Given the description of an element on the screen output the (x, y) to click on. 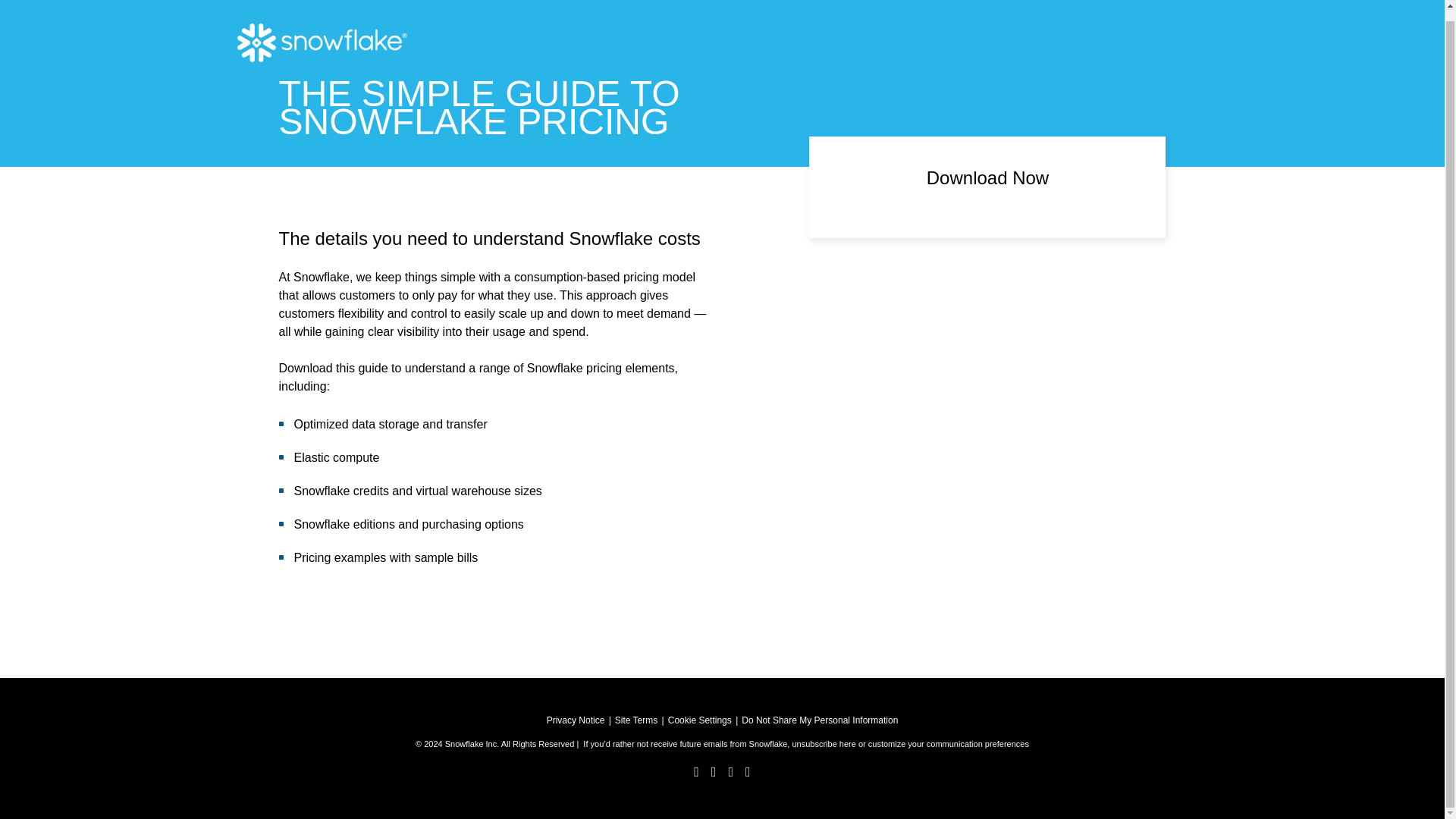
unsubscribe here or customize your communication preferences (909, 743)
Do Not Share My Personal Information (819, 719)
Privacy Notice (576, 719)
Site Terms (636, 719)
Cookie Settings (700, 719)
